Given the description of an element on the screen output the (x, y) to click on. 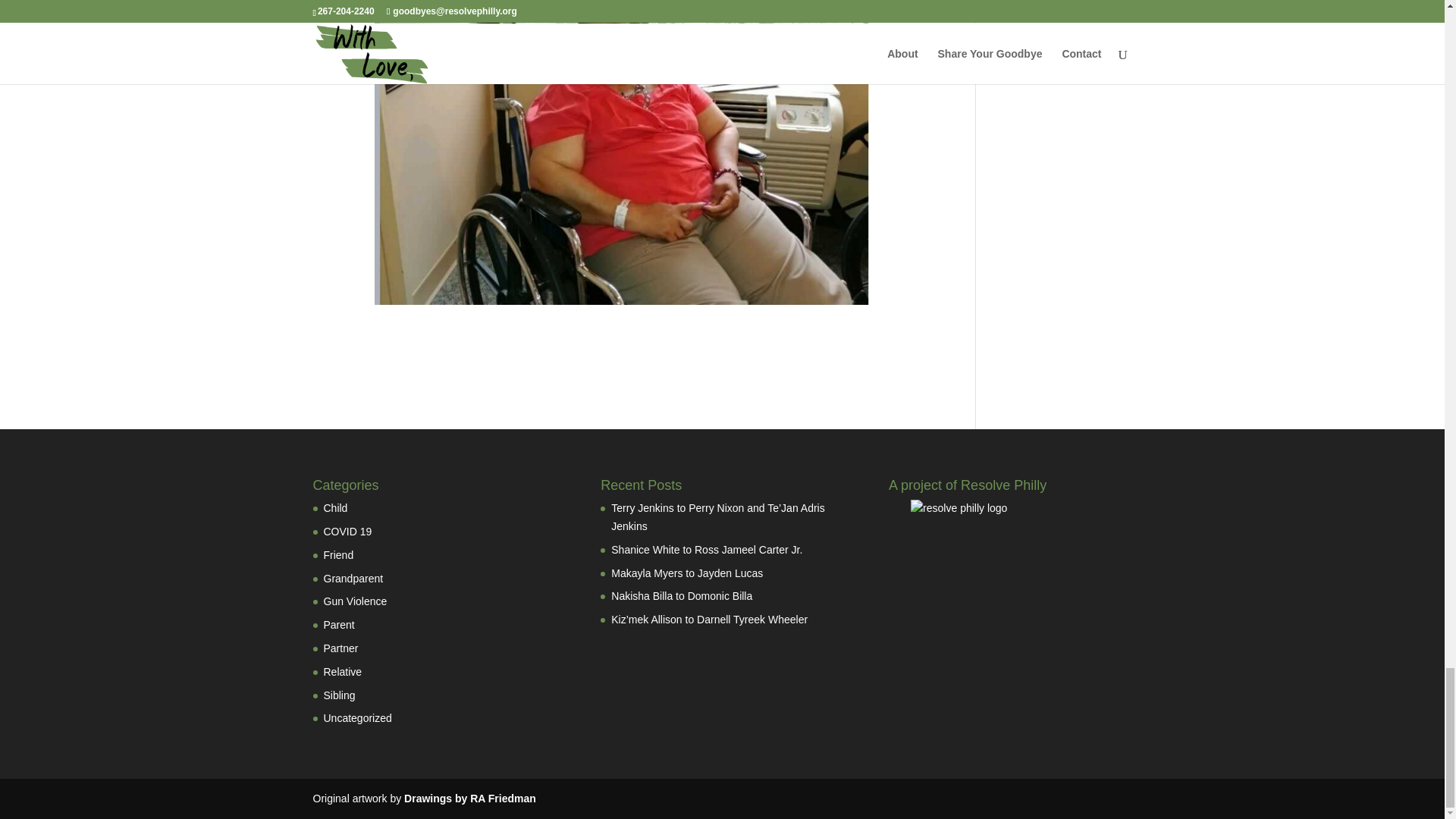
Grandparent (352, 578)
Relative (342, 671)
Friend (338, 554)
Shanice White to Ross Jameel Carter Jr. (706, 549)
COVID 19 (347, 531)
Partner (340, 648)
Sibling (339, 695)
Uncategorized (357, 717)
Parent (338, 624)
Child (335, 508)
Gun Violence (355, 601)
